Given the description of an element on the screen output the (x, y) to click on. 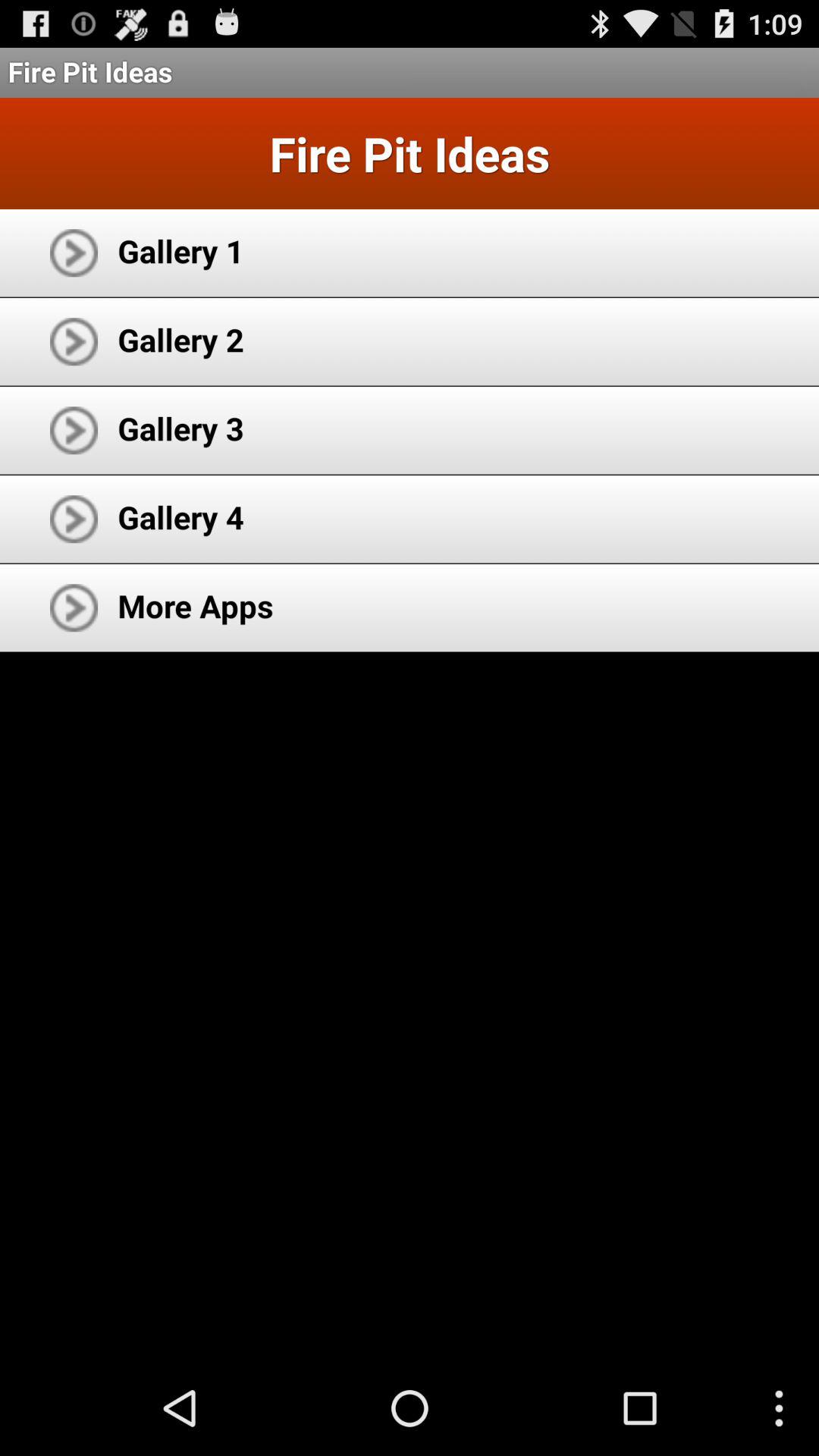
press the gallery 4 icon (180, 516)
